Given the description of an element on the screen output the (x, y) to click on. 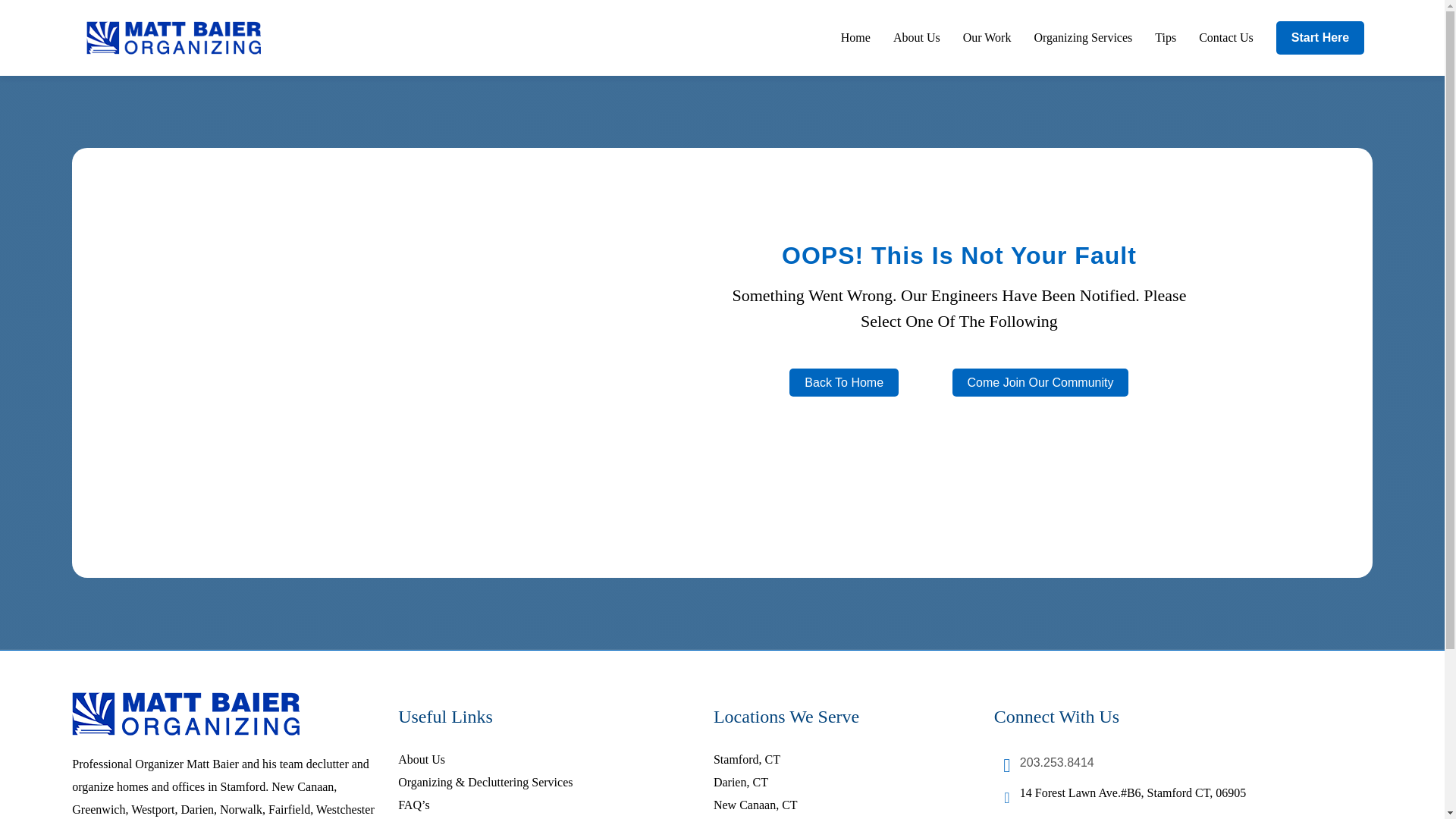
203.253.8414 (1057, 762)
Start Here (1320, 38)
Darien, CT (740, 781)
New Canaan, CT (755, 804)
Back To Home (843, 382)
Come Join Our Community (1040, 382)
Stamford, CT (746, 758)
Organizing Services (1082, 38)
About Us (421, 758)
